Given the description of an element on the screen output the (x, y) to click on. 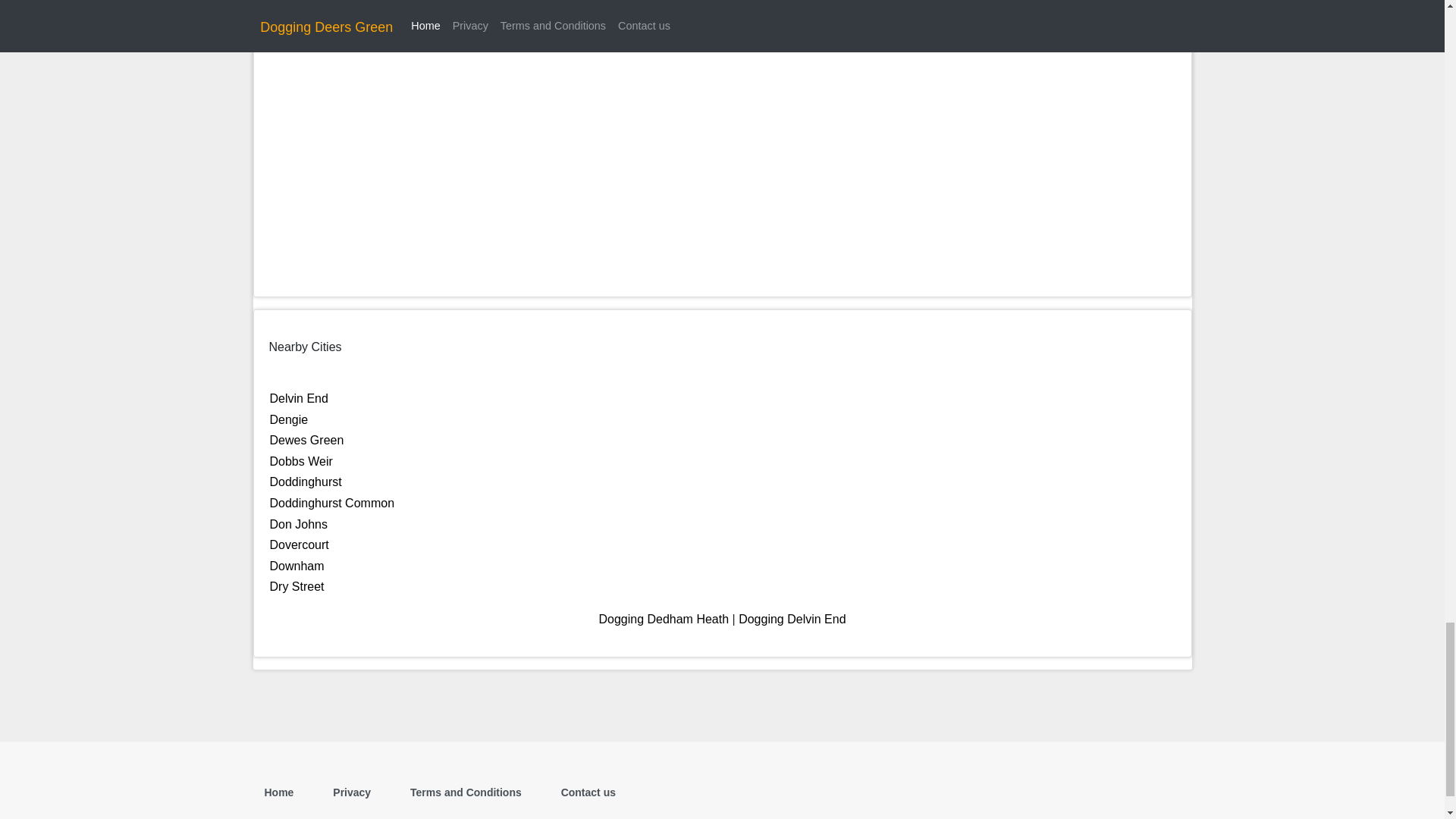
Dry Street (296, 585)
Dewes Green (306, 440)
Dogging Dedham Heath (663, 618)
Dogging Delvin End (791, 618)
Doddinghurst (305, 481)
Doddinghurst Common (331, 502)
Dengie (288, 419)
Delvin End (299, 398)
Dobbs Weir (301, 461)
Downham (296, 565)
